Given the description of an element on the screen output the (x, y) to click on. 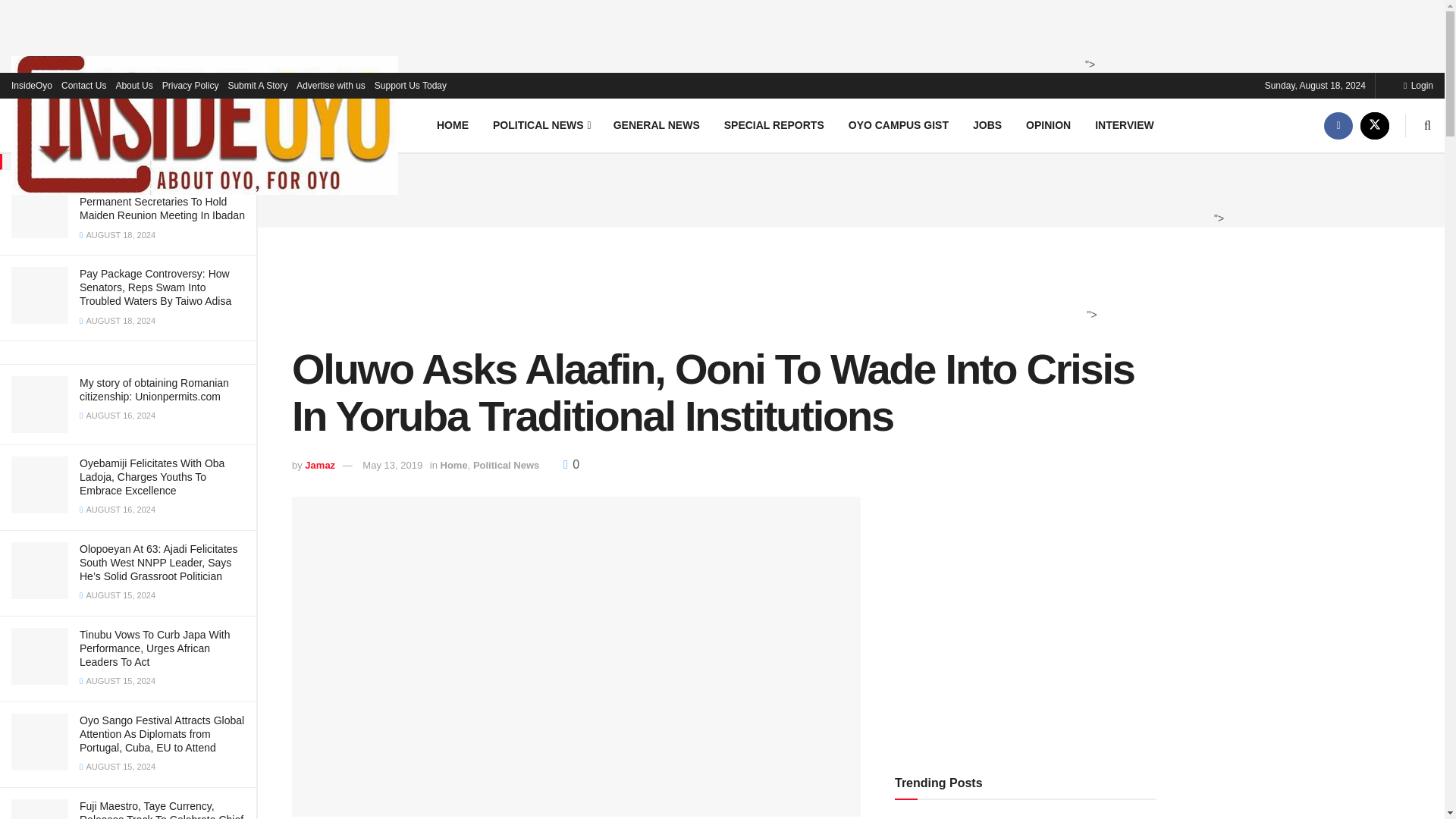
Contact Us (83, 85)
Support Us Today (410, 85)
Login (1417, 85)
POLITICAL NEWS (540, 125)
About Us (133, 85)
